Given the description of an element on the screen output the (x, y) to click on. 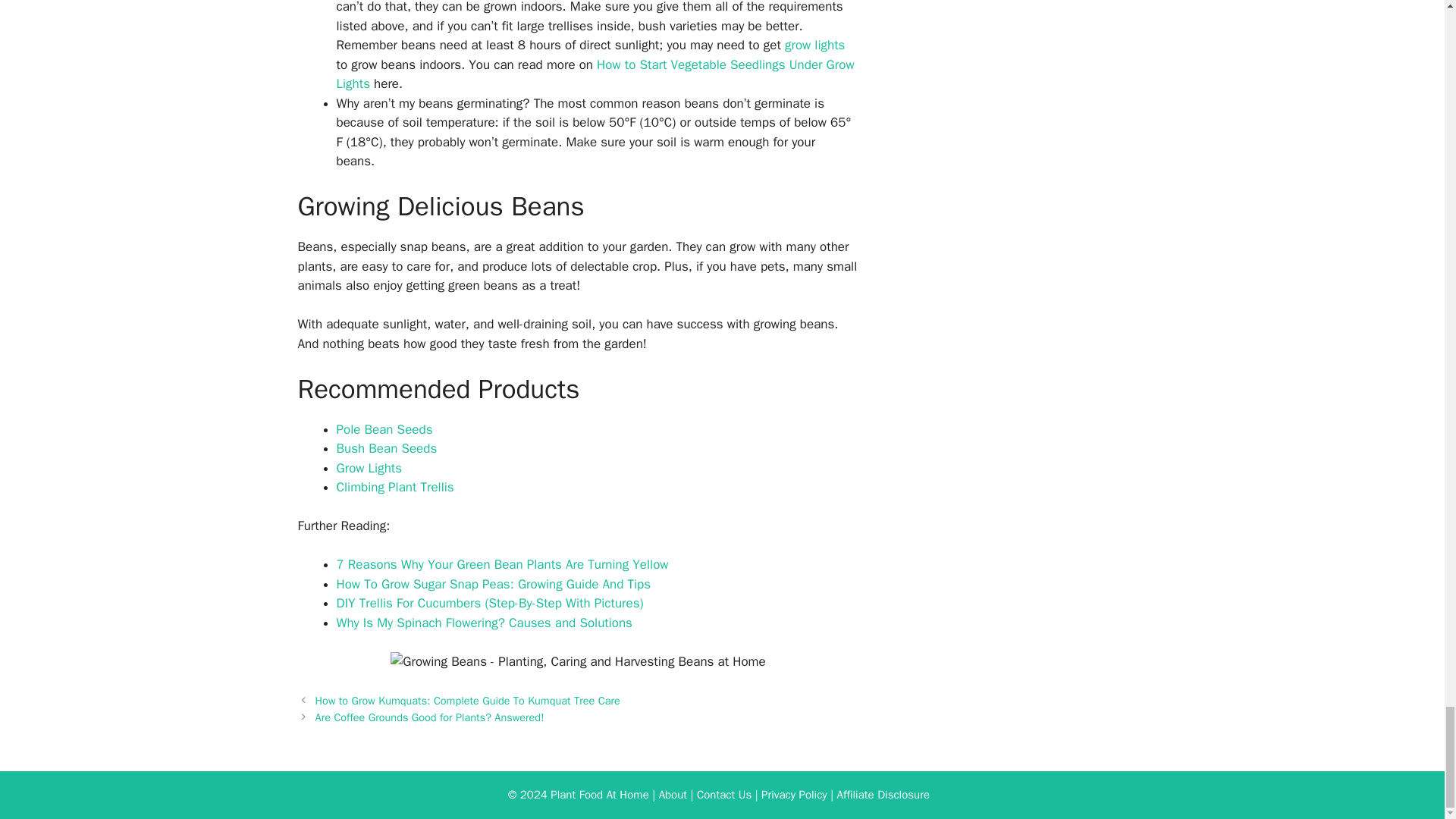
Bush Bean Seeds (387, 448)
Climbing Plant Trellis (395, 487)
Pole Bean Seeds (384, 429)
Grow Lights (814, 44)
Grow Lights (369, 467)
